Given the description of an element on the screen output the (x, y) to click on. 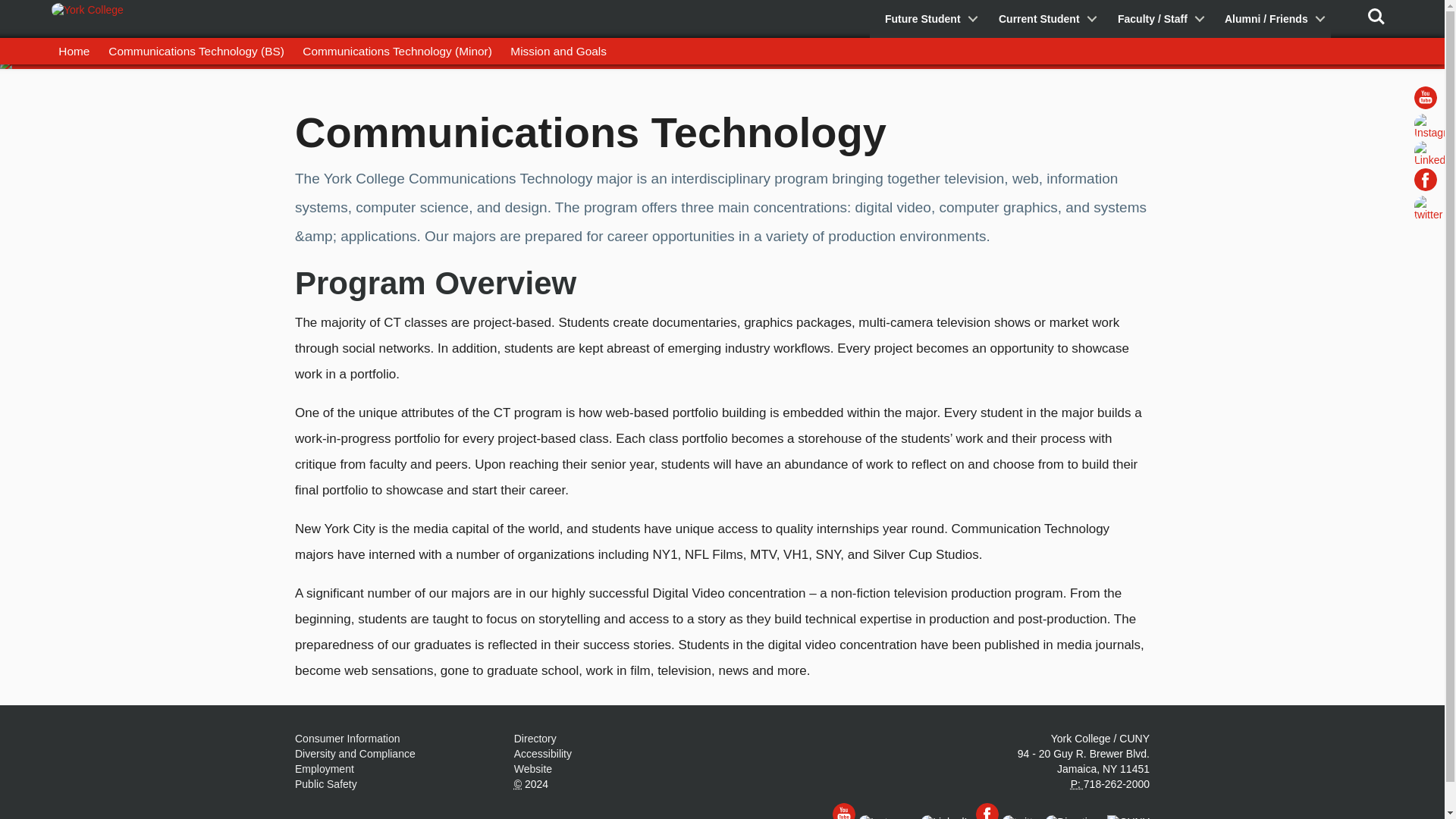
Mission and Goals (557, 50)
Accessibility (542, 753)
Diversity and Compliance (354, 753)
Employment (324, 768)
Website (532, 768)
Phone (1076, 784)
Future Student (926, 18)
Public Safety (325, 784)
Home (74, 50)
Consumer Information (347, 738)
Current Student (1043, 18)
Directory (534, 738)
